Given the description of an element on the screen output the (x, y) to click on. 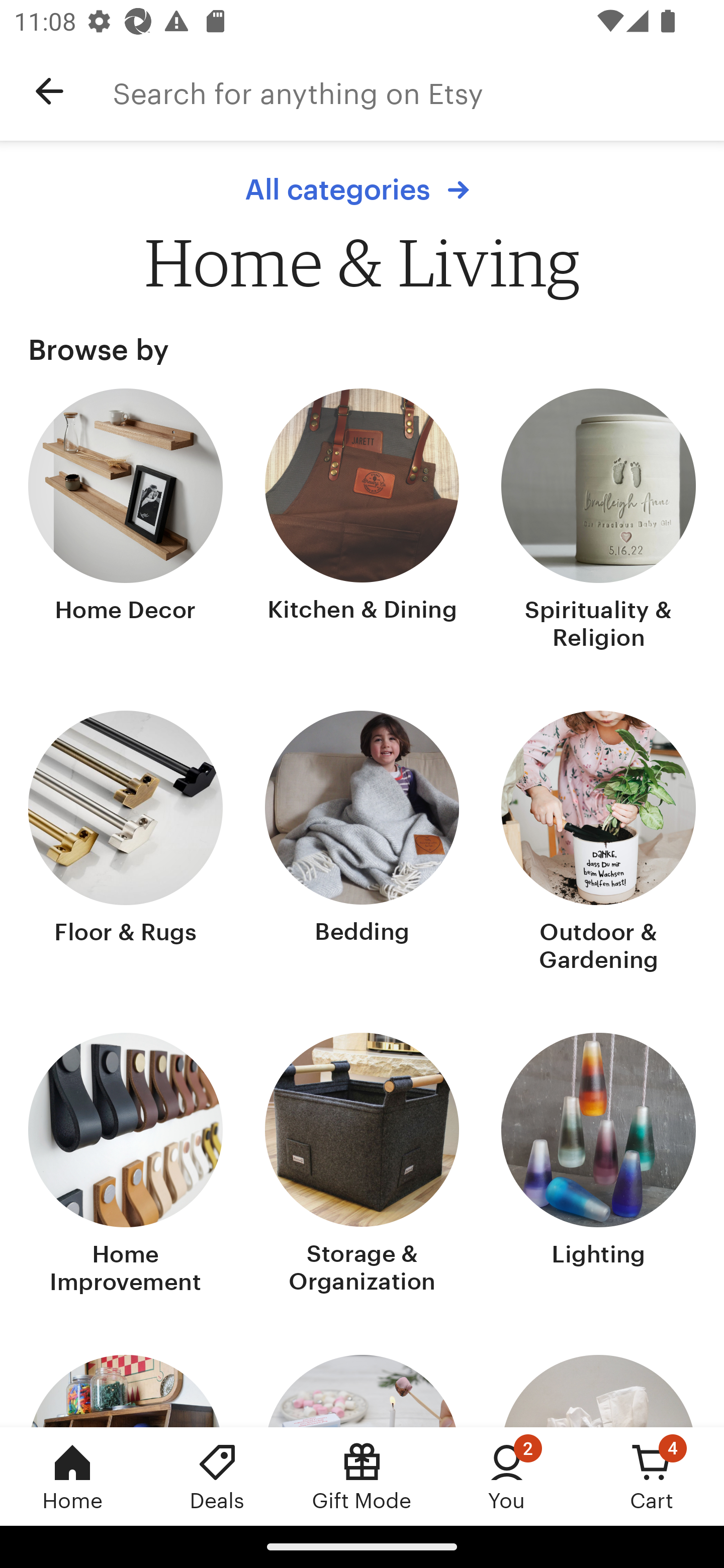
Navigate up (49, 91)
Search for anything on Etsy (418, 91)
All categories (361, 189)
Home Decor (125, 520)
Kitchen & Dining (361, 520)
Spirituality & Religion (598, 520)
Floor & Rugs (125, 843)
Bedding (361, 843)
Outdoor & Gardening (598, 843)
Home Improvement (125, 1165)
Storage & Organization (361, 1165)
Lighting (598, 1165)
Deals (216, 1475)
Gift Mode (361, 1475)
You, 2 new notifications You (506, 1475)
Cart, 4 new notifications Cart (651, 1475)
